Given the description of an element on the screen output the (x, y) to click on. 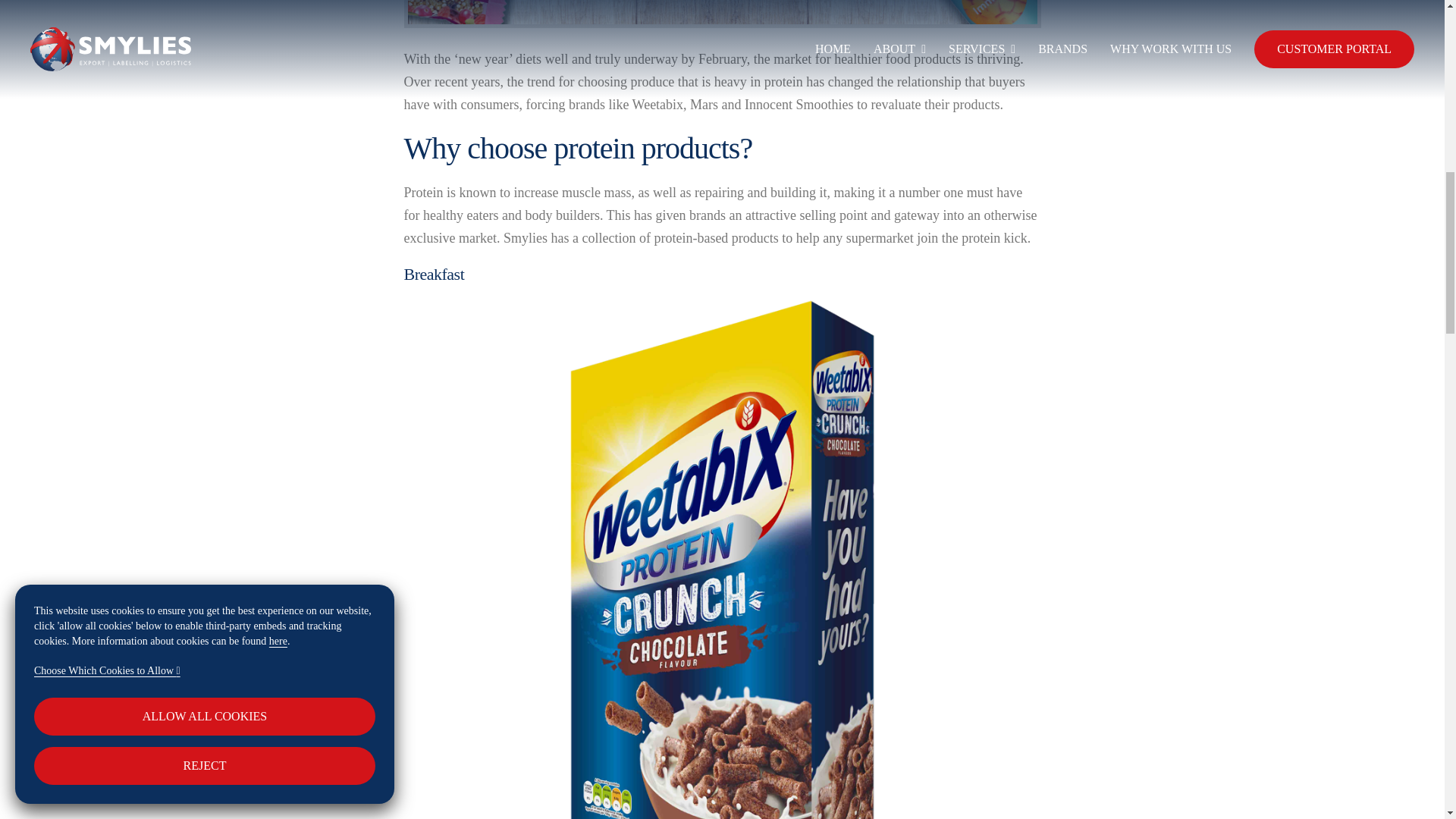
Protein Products available from Smylies (721, 12)
